Given the description of an element on the screen output the (x, y) to click on. 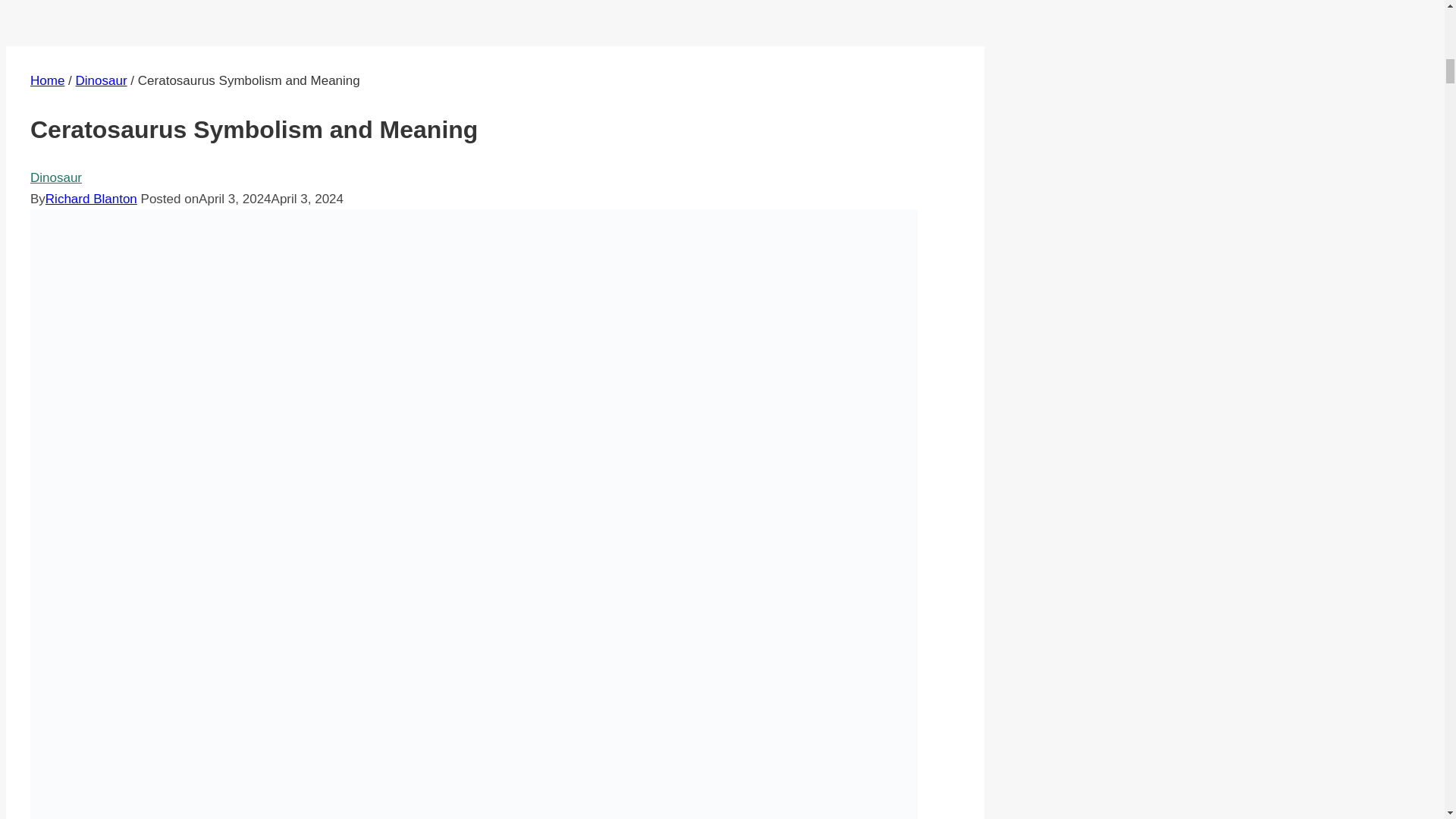
Home (47, 80)
Dinosaur (55, 177)
Richard Blanton (90, 198)
Dinosaur (101, 80)
